Given the description of an element on the screen output the (x, y) to click on. 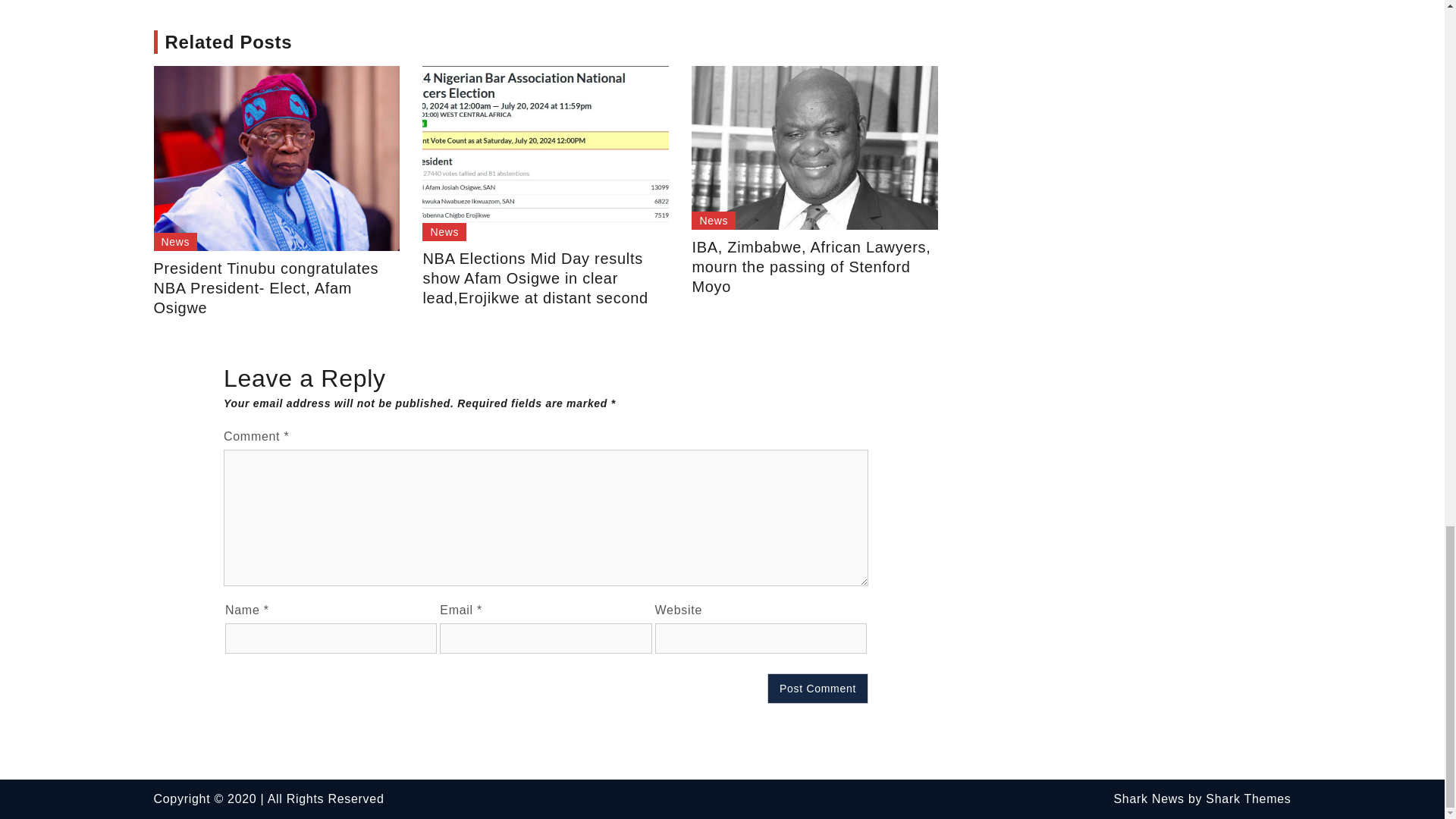
Post Comment (817, 688)
